Given the description of an element on the screen output the (x, y) to click on. 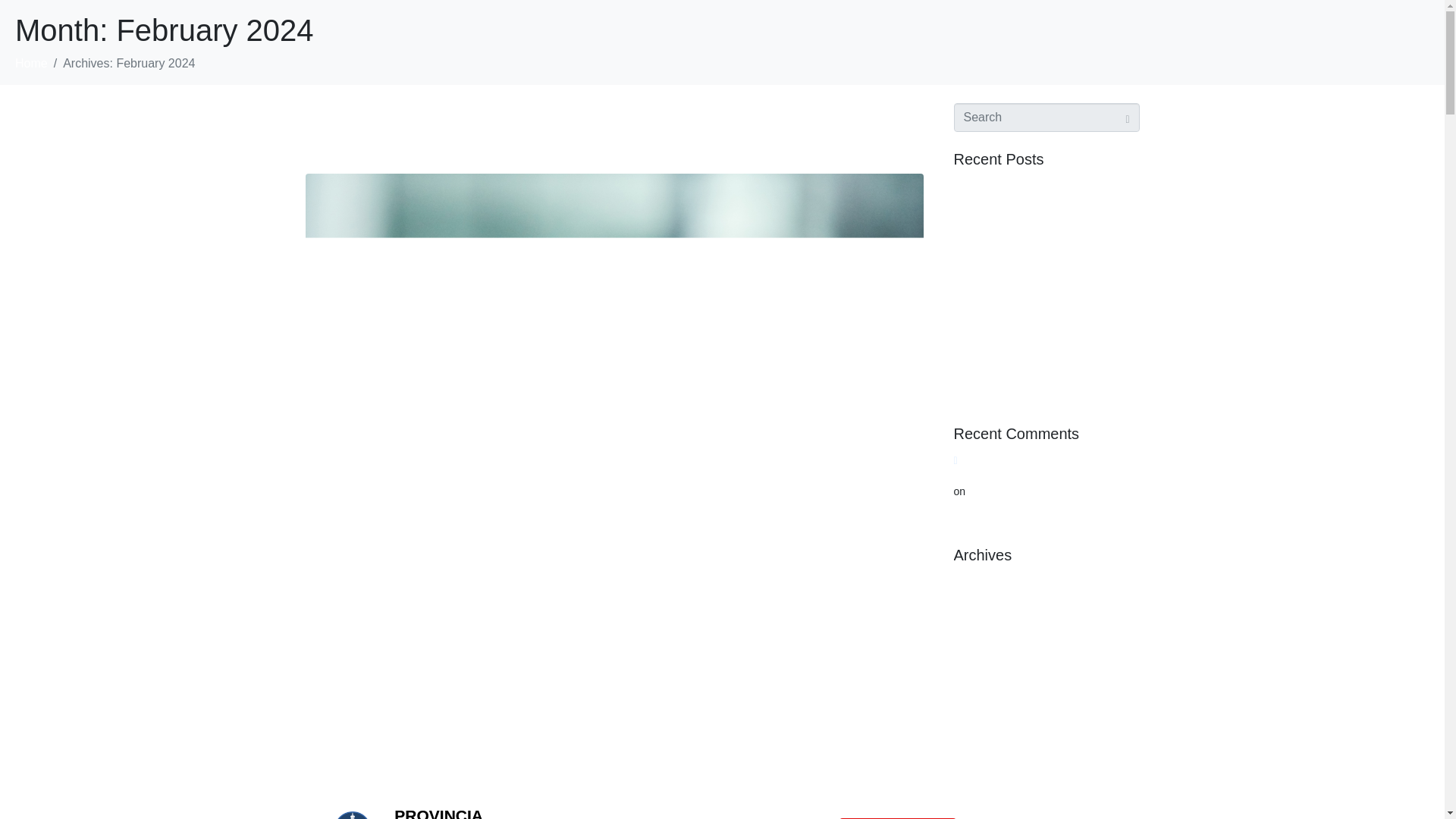
SERVICES (656, 816)
PROVINCIA GOVERNMENT SOLUTIONS (451, 812)
HOME (580, 816)
ABOUT PGS (748, 816)
Home (31, 62)
